Given the description of an element on the screen output the (x, y) to click on. 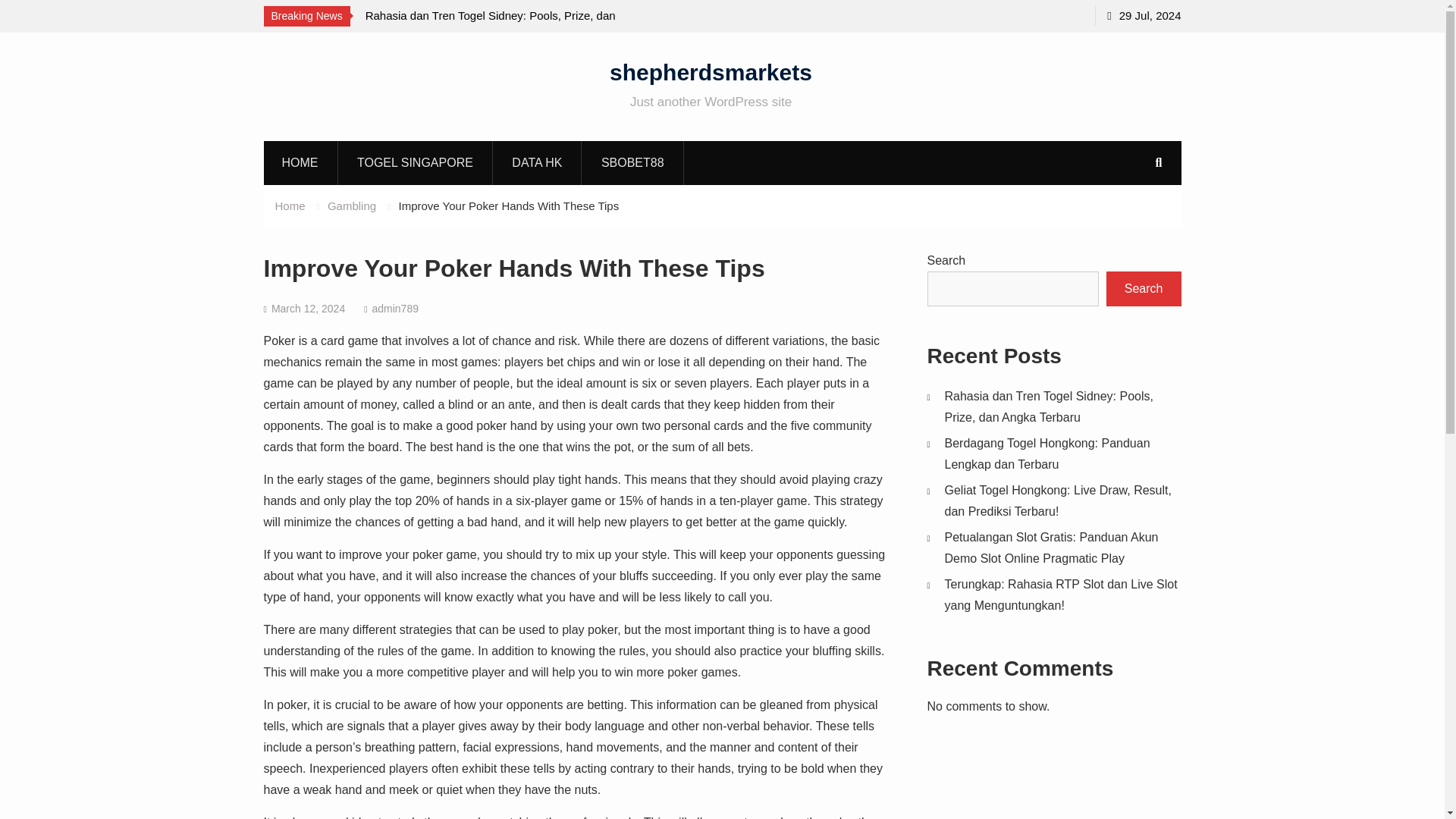
HOME (299, 162)
admin789 (395, 308)
Home (289, 205)
DATA HK (536, 162)
TOGEL SINGAPORE (415, 162)
Gambling (351, 205)
Search (1143, 288)
Berdagang Togel Hongkong: Panduan Lengkap dan Terbaru (1047, 453)
